Given the description of an element on the screen output the (x, y) to click on. 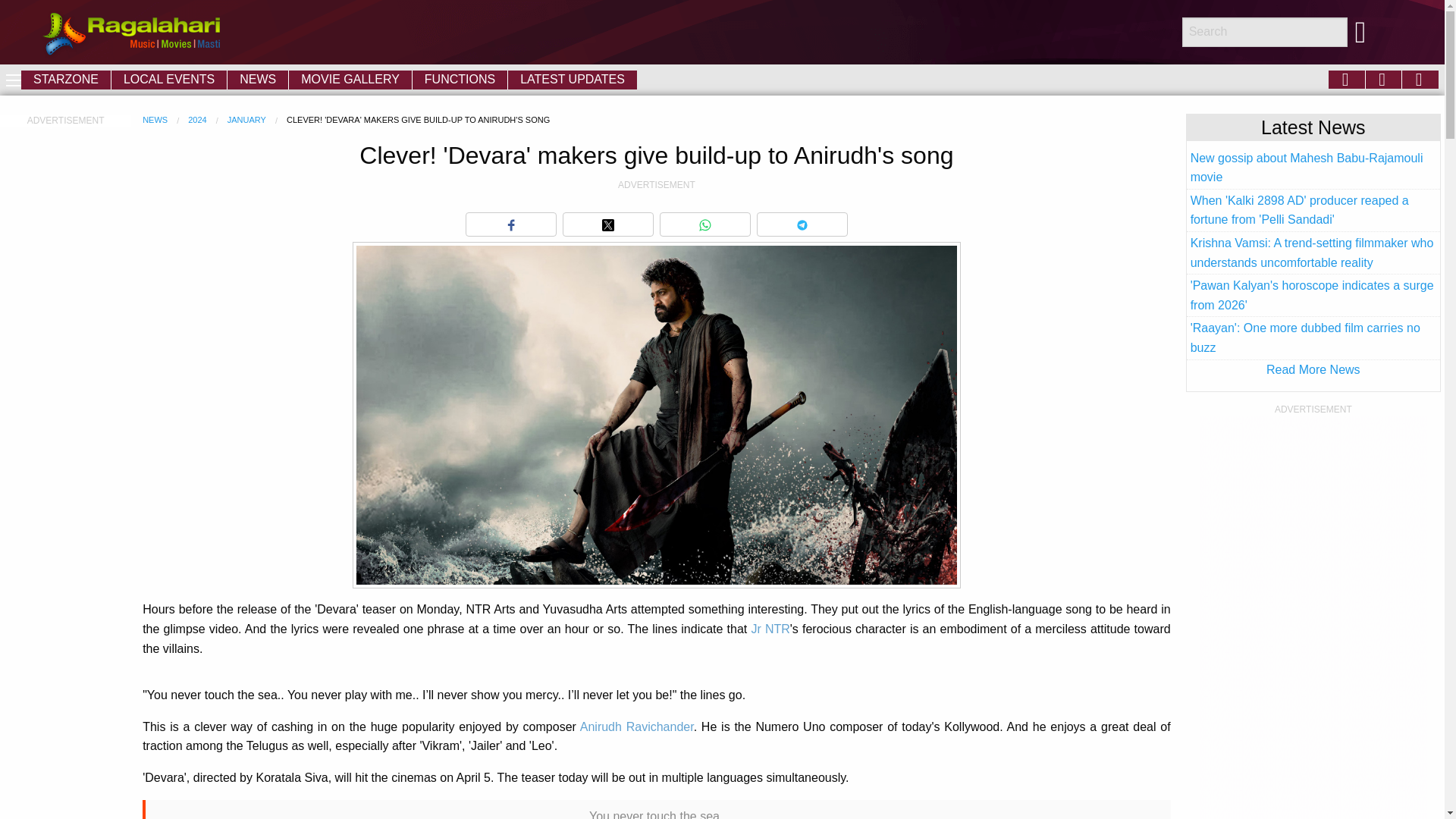
STARZONE (65, 79)
LATEST UPDATES (572, 79)
MOVIE GALLERY (350, 79)
FUNCTIONS (459, 79)
NEWS (257, 79)
LOCAL EVENTS (169, 79)
